Given the description of an element on the screen output the (x, y) to click on. 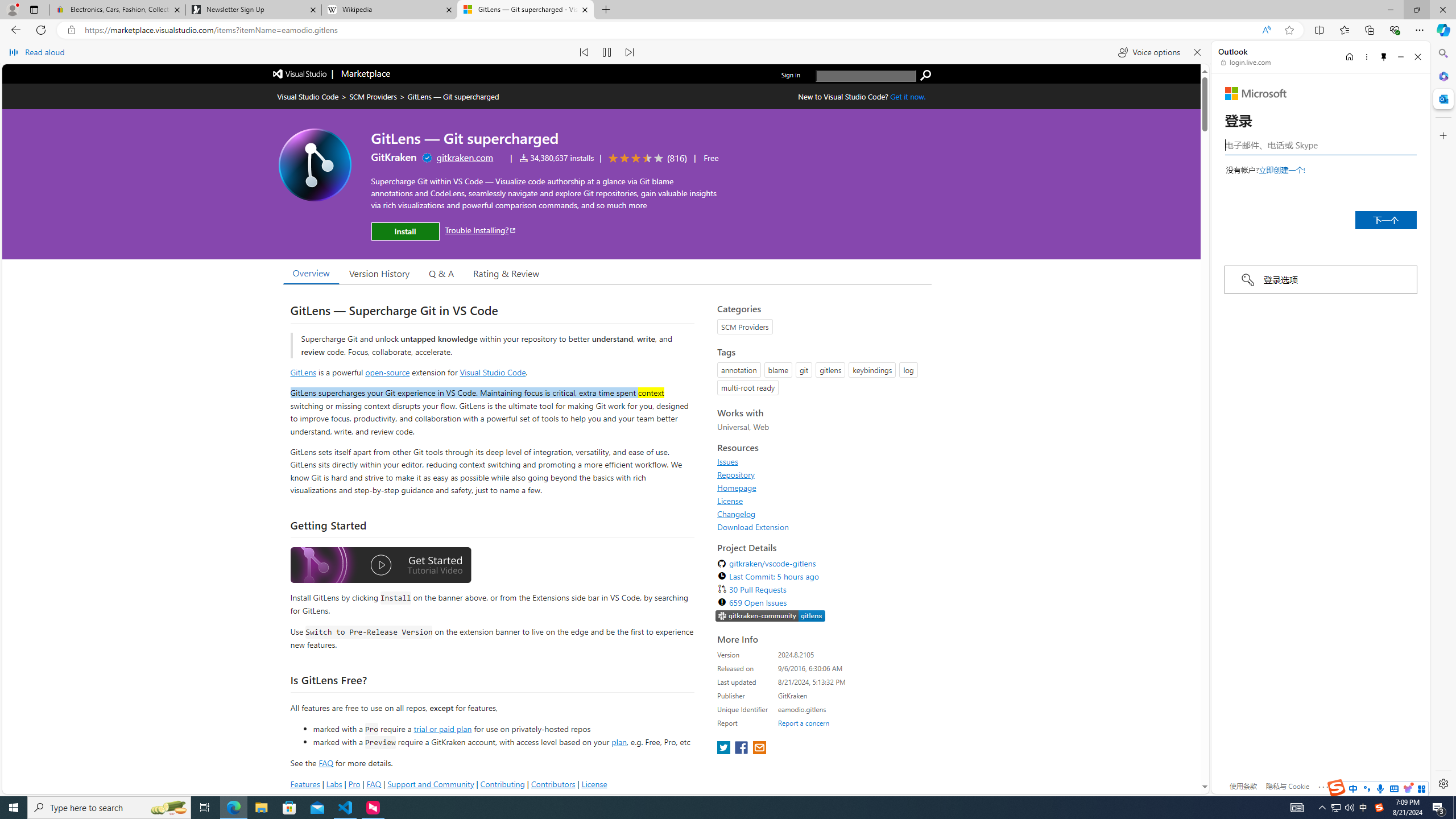
License (729, 500)
Average rating: 3.7 out of 5. Navigate to user reviews. (645, 157)
Visual Studio logo Marketplace logo (330, 73)
Report a concern (803, 722)
Close read aloud (1196, 52)
